Given the description of an element on the screen output the (x, y) to click on. 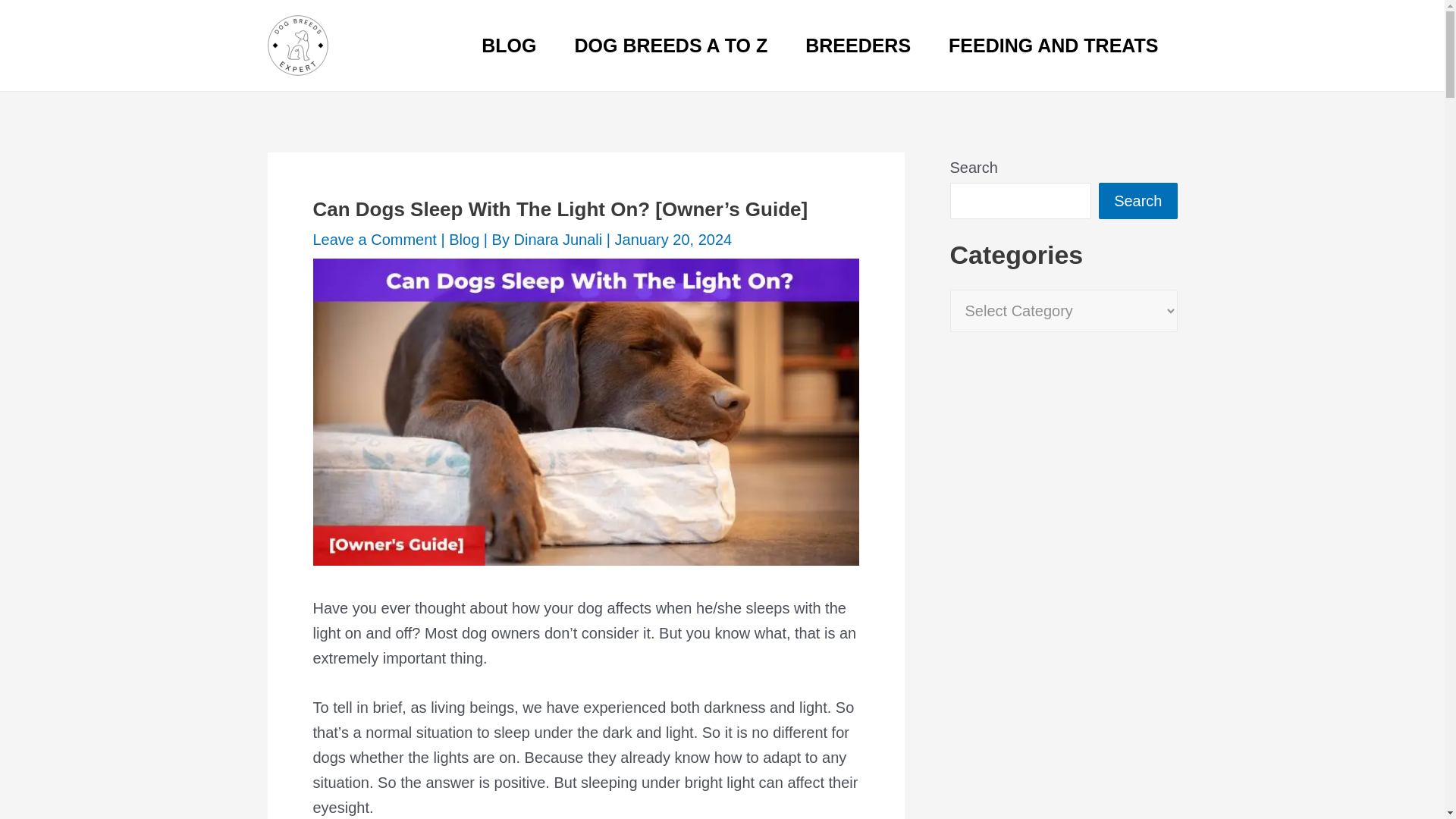
Blog (463, 239)
DOG BREEDS A TO Z (671, 45)
BREEDERS (858, 45)
Dinara Junali (560, 239)
View all posts by Dinara Junali (560, 239)
FEEDING AND TREATS (1053, 45)
BLOG (508, 45)
Leave a Comment (374, 239)
